Given the description of an element on the screen output the (x, y) to click on. 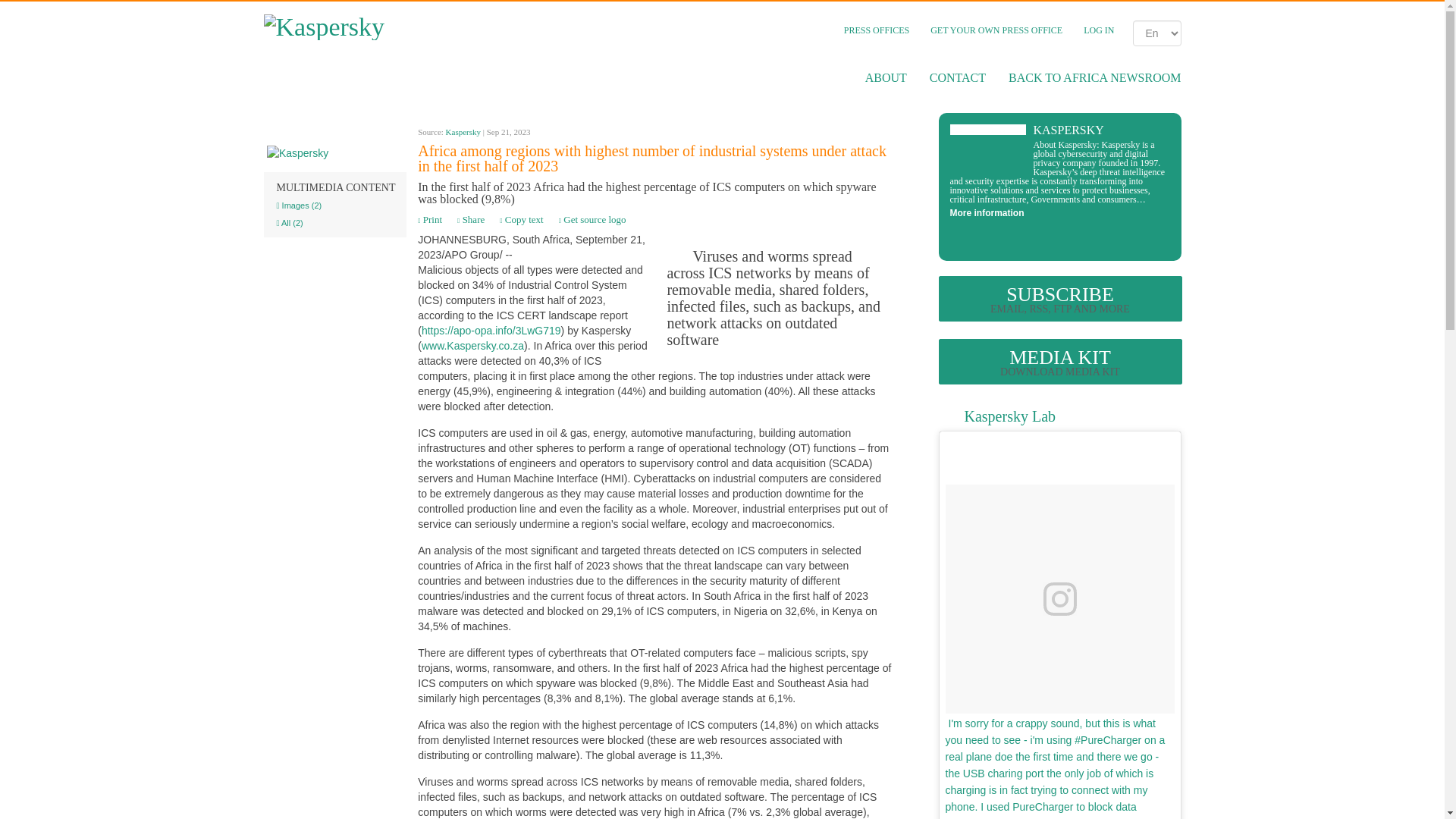
Share (470, 219)
PRESS OFFICES (876, 30)
BACK TO AFRICA NEWSROOM (1088, 77)
www.Kaspersky.co.za (473, 345)
See more news from this source (334, 152)
Get source logo (592, 219)
ABOUT (885, 77)
Copy text (521, 219)
CONTACT (957, 77)
LOG IN (1098, 30)
